Given the description of an element on the screen output the (x, y) to click on. 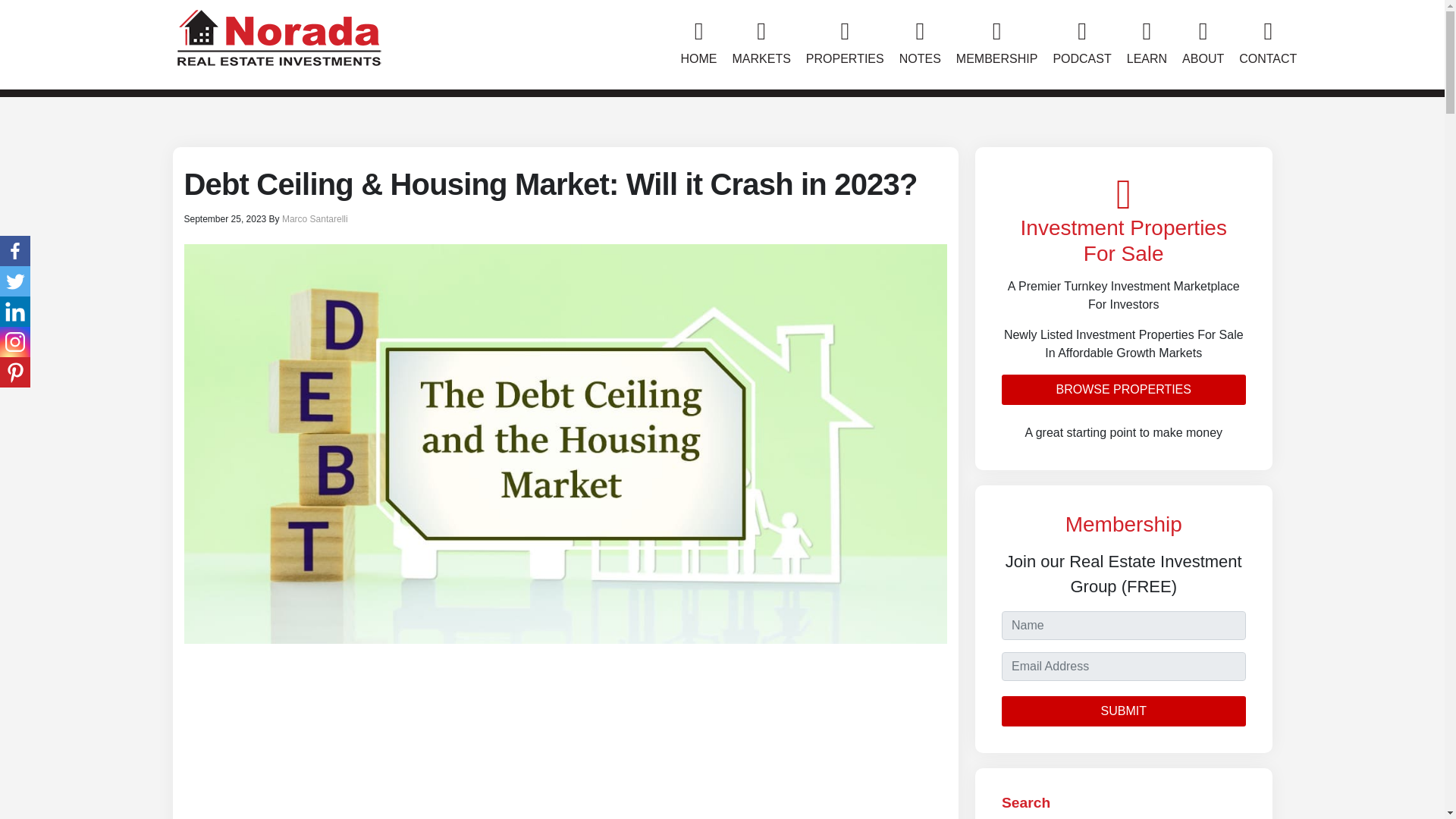
MEMBERSHIP (997, 44)
Submit (1123, 711)
NORADA REAL ESTATE INVESTMENTS (278, 35)
Instagram (15, 341)
Linkedin (15, 311)
Facebook (15, 250)
PROPERTIES (844, 44)
BROWSE PROPERTIES (1123, 389)
Twitter (15, 281)
Submit (1123, 711)
